Given the description of an element on the screen output the (x, y) to click on. 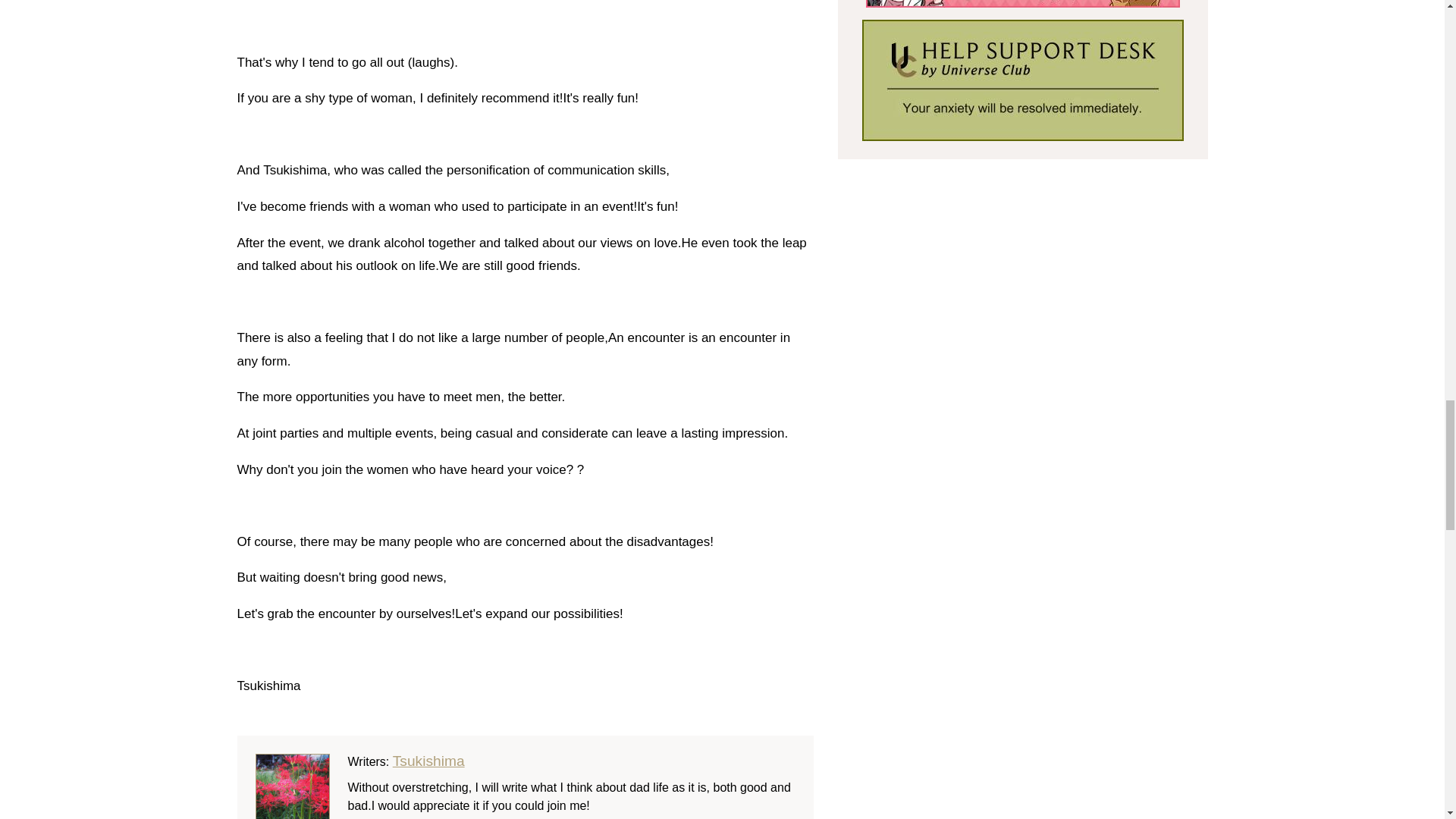
Tsukishima's post (428, 760)
Tsukishima (428, 760)
